Given the description of an element on the screen output the (x, y) to click on. 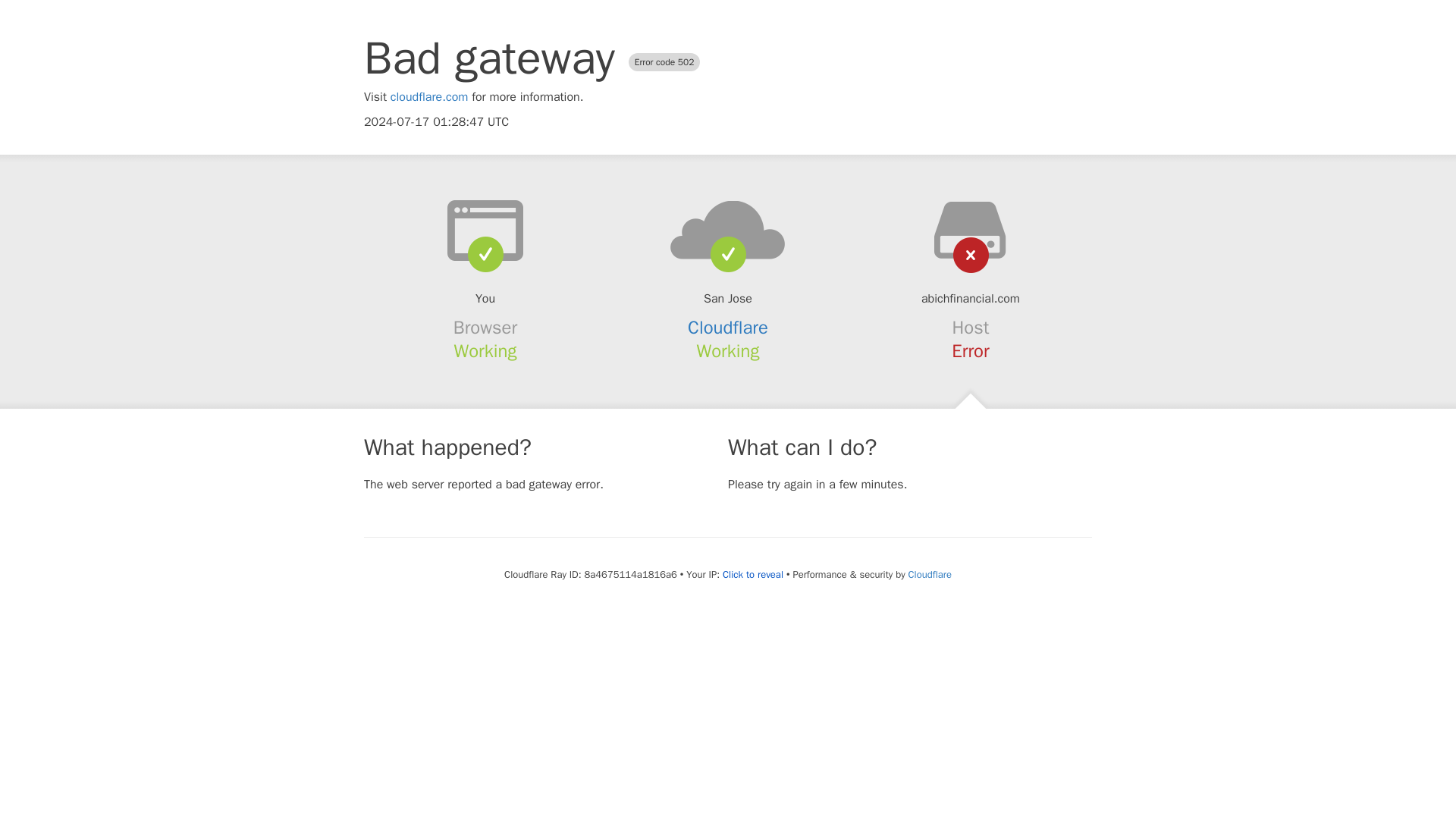
Click to reveal (752, 574)
Cloudflare (727, 327)
Cloudflare (930, 574)
cloudflare.com (429, 96)
